Given the description of an element on the screen output the (x, y) to click on. 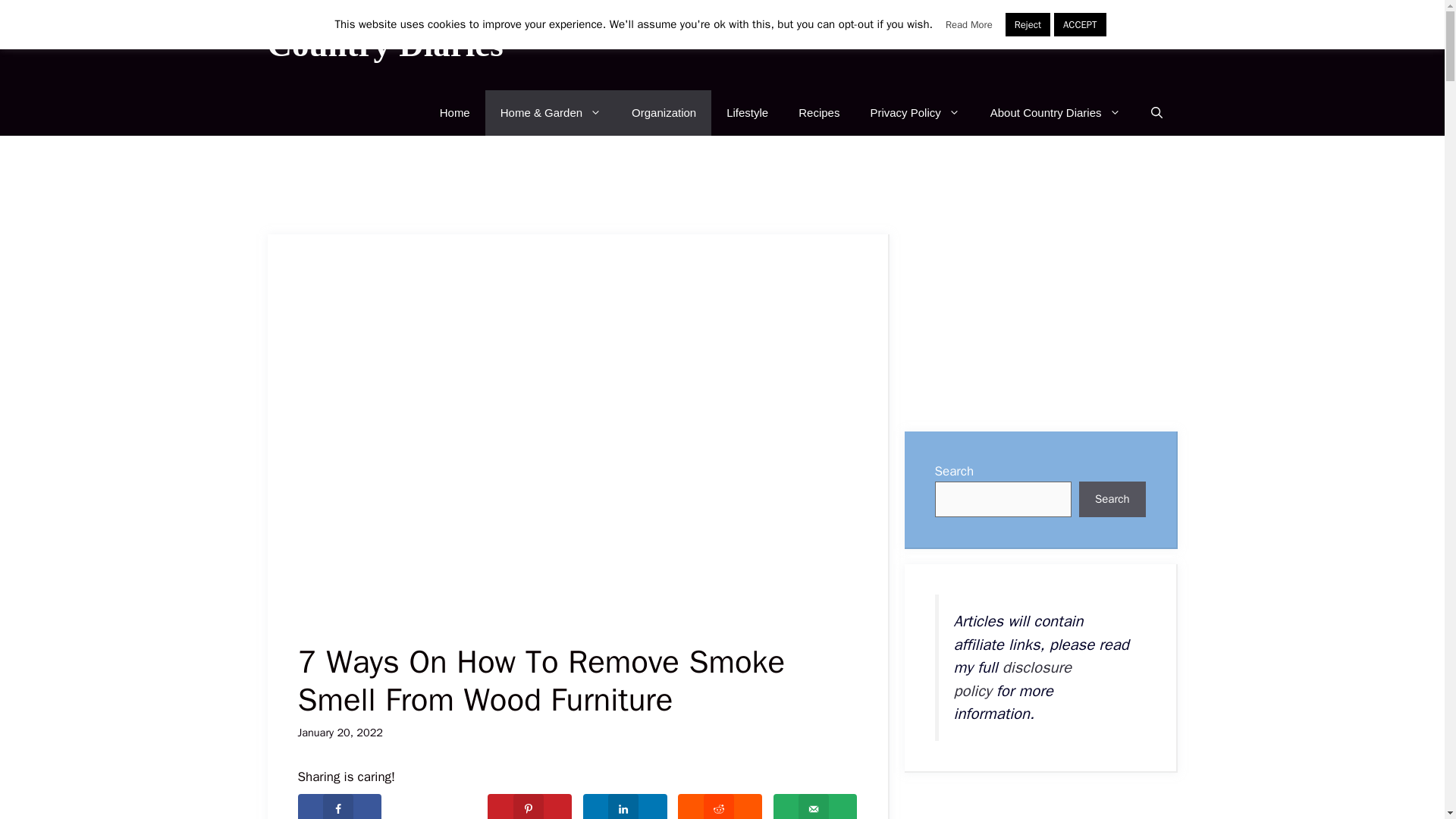
Share on Reddit (719, 806)
Lifestyle (747, 112)
Home (454, 112)
Share on X (435, 806)
Organization (663, 112)
Share on LinkedIn (624, 806)
Send over email (815, 806)
Country Diaries (384, 45)
About Country Diaries (1055, 112)
Recipes (818, 112)
